Given the description of an element on the screen output the (x, y) to click on. 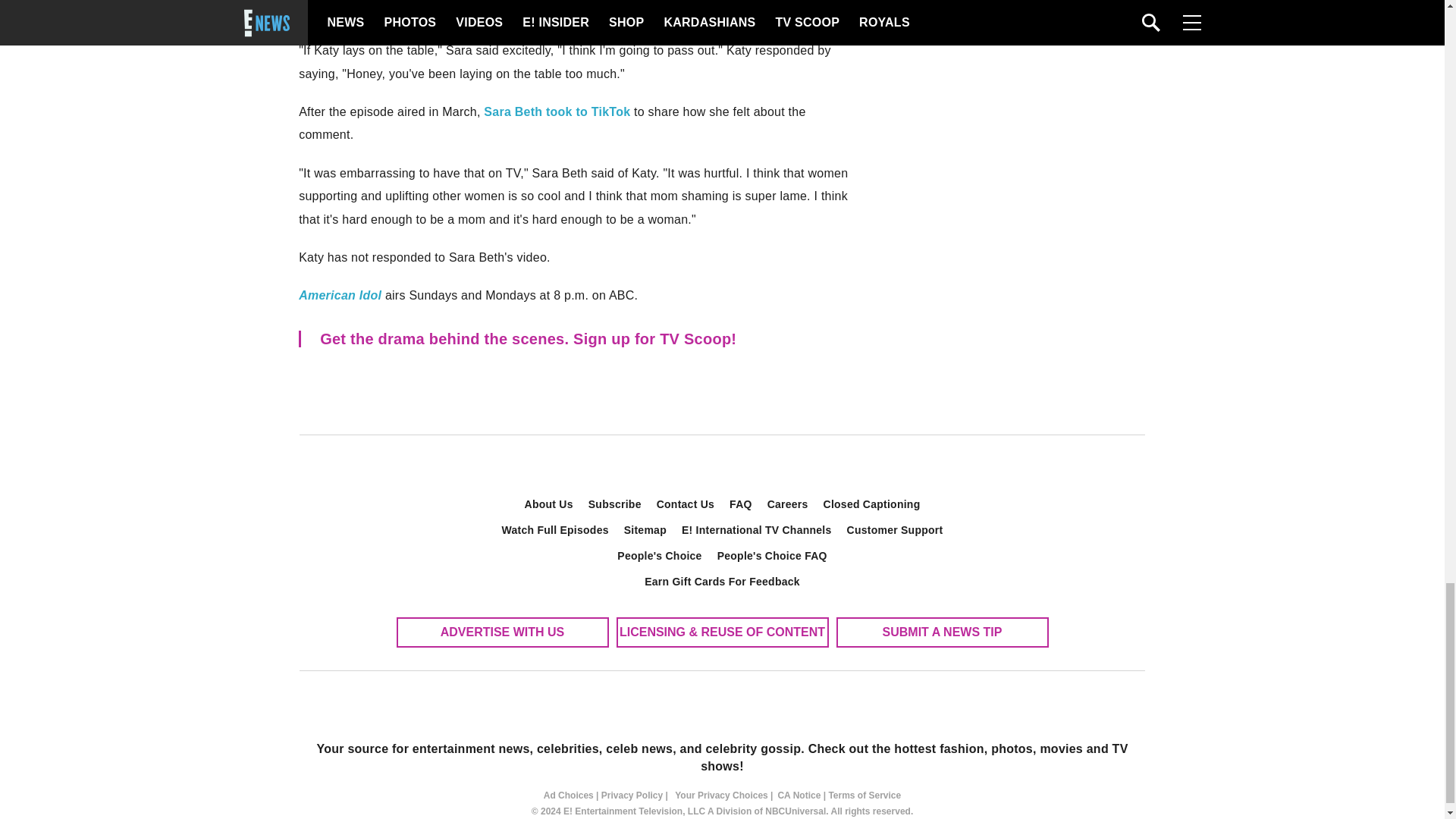
Sara Beth took to TikTok (556, 111)
Get the drama behind the scenes. Sign up for TV Scoop! (581, 338)
American Idol (339, 295)
